Given the description of an element on the screen output the (x, y) to click on. 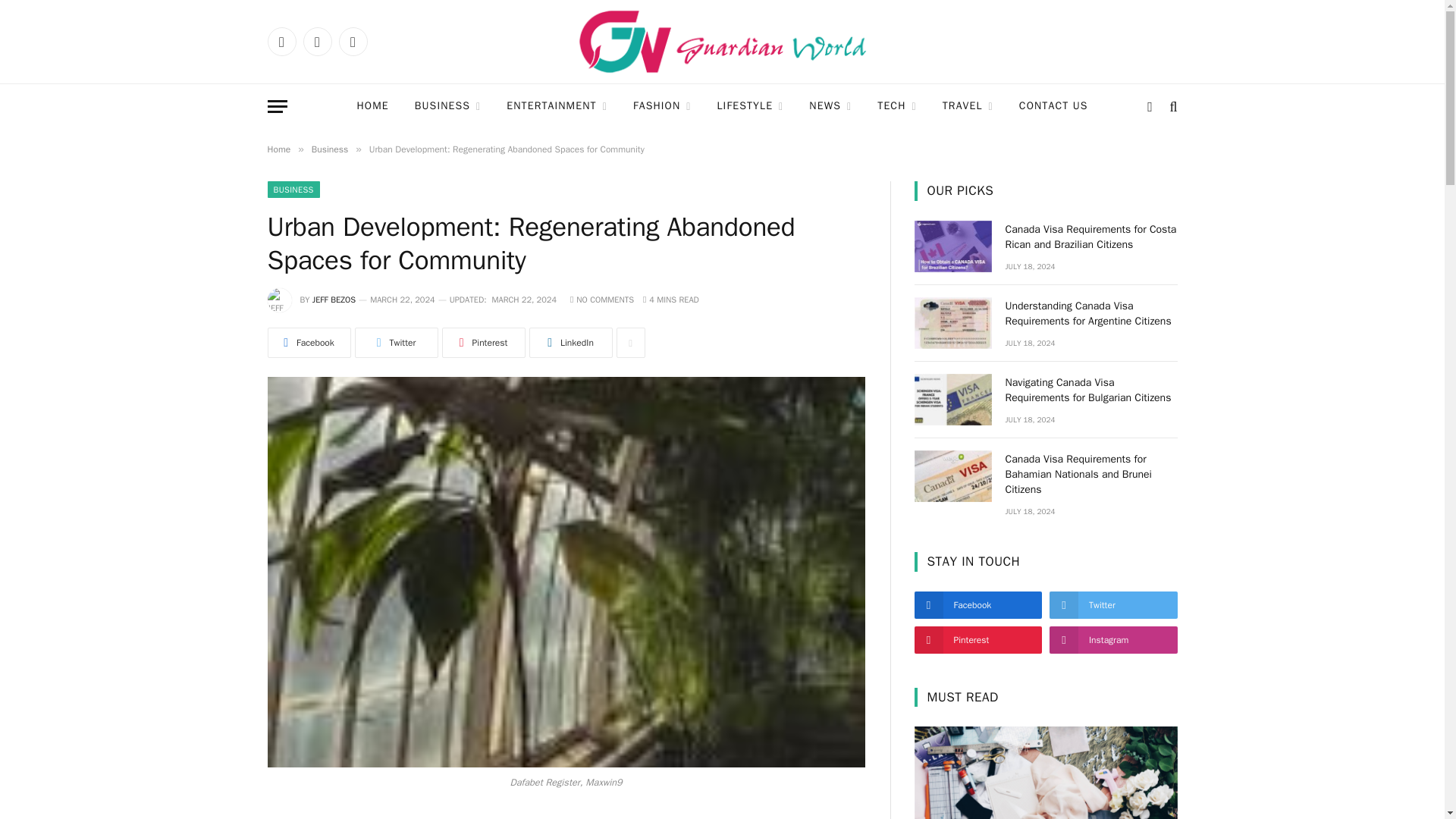
FASHION (662, 106)
Twitter (316, 41)
HOME (372, 106)
Instagram (351, 41)
ENTERTAINMENT (556, 106)
Guardian World (721, 41)
Facebook (280, 41)
BUSINESS (448, 106)
